Given the description of an element on the screen output the (x, y) to click on. 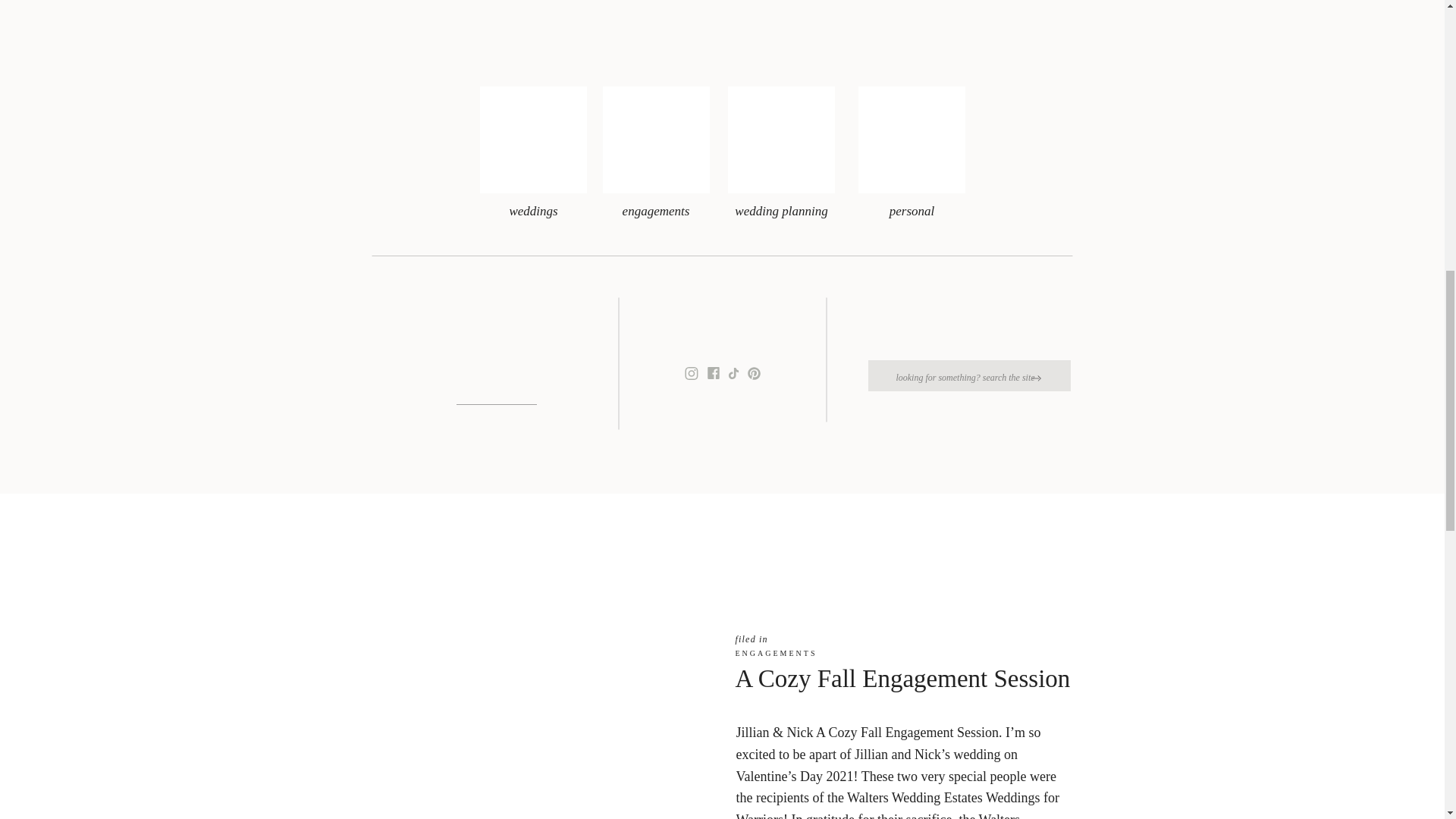
wedding planning (781, 210)
engagements (656, 217)
weddings (532, 210)
Facebook Copy-color Created with Sketch. (713, 373)
ENGAGEMENTS (775, 653)
Facebook Copy-color Created with Sketch. (713, 373)
personal (911, 210)
A Cozy Fall Engagement Session (902, 678)
Instagram-color Created with Sketch. (691, 373)
Instagram-color Created with Sketch. (691, 373)
